Given the description of an element on the screen output the (x, y) to click on. 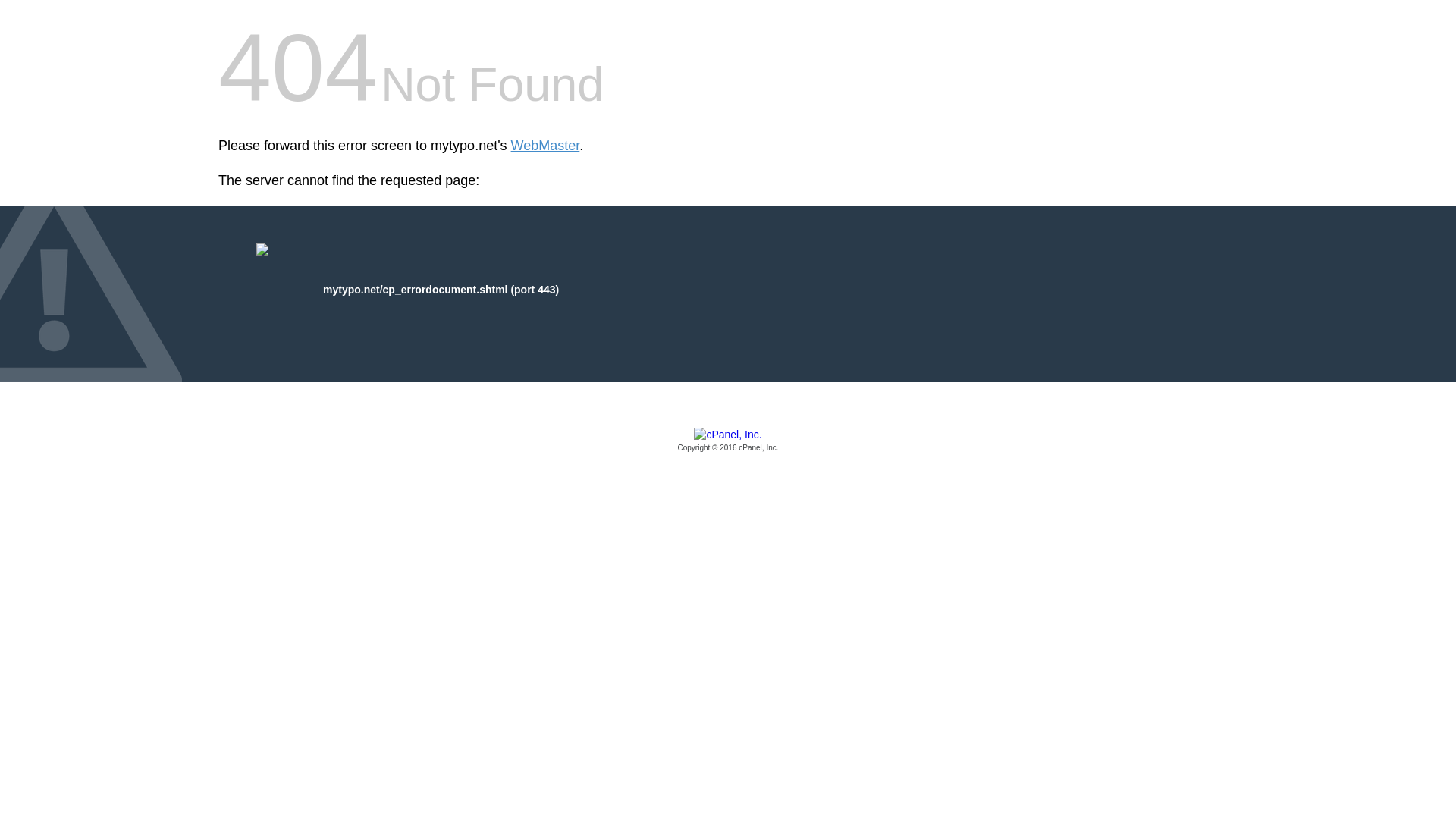
cPanel, Inc. (727, 440)
WebMaster (545, 145)
